Given the description of an element on the screen output the (x, y) to click on. 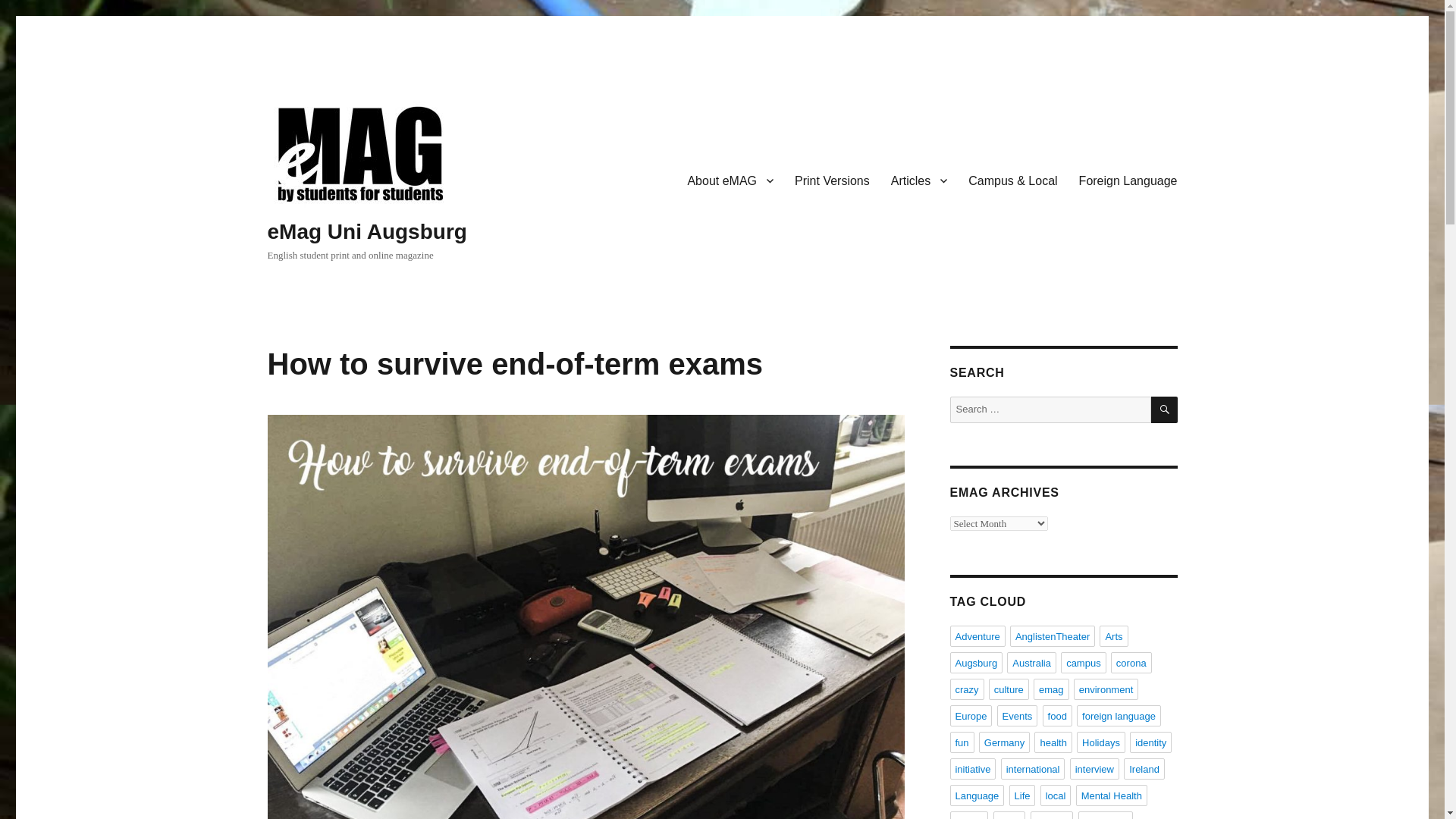
Print Versions (832, 180)
Foreign Language (1128, 180)
Augsburg (976, 662)
AnglistenTheater (1052, 636)
Adventure (976, 636)
SEARCH (1164, 409)
campus (1083, 662)
culture (1008, 689)
crazy (966, 689)
Articles (919, 180)
